Given the description of an element on the screen output the (x, y) to click on. 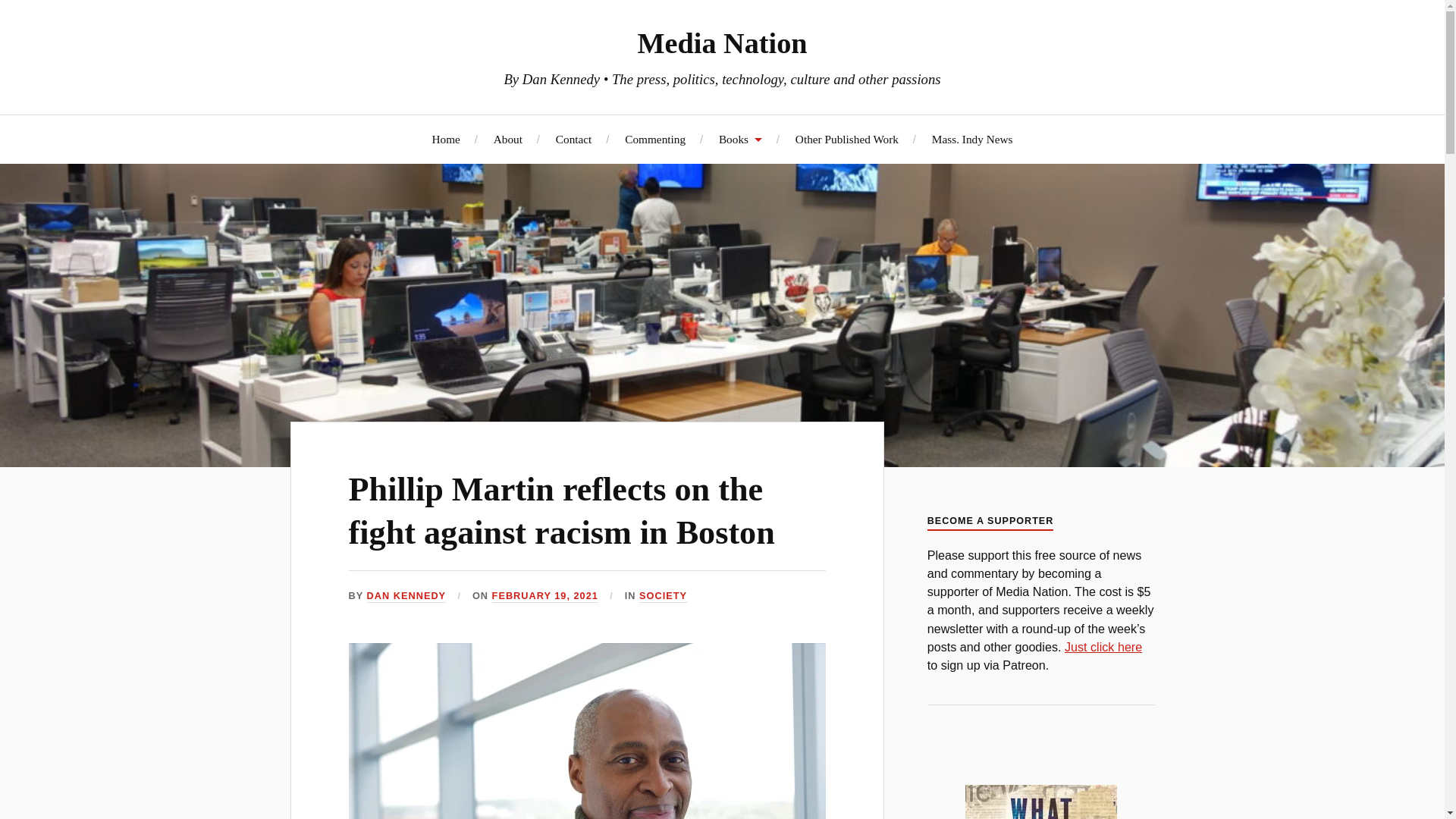
Books (740, 138)
FEBRUARY 19, 2021 (545, 595)
Other Published Work (846, 138)
Mass. Indy News (972, 138)
SOCIETY (663, 595)
Media Nation (721, 42)
Posts by Dan Kennedy (406, 595)
Commenting (654, 138)
DAN KENNEDY (406, 595)
